Given the description of an element on the screen output the (x, y) to click on. 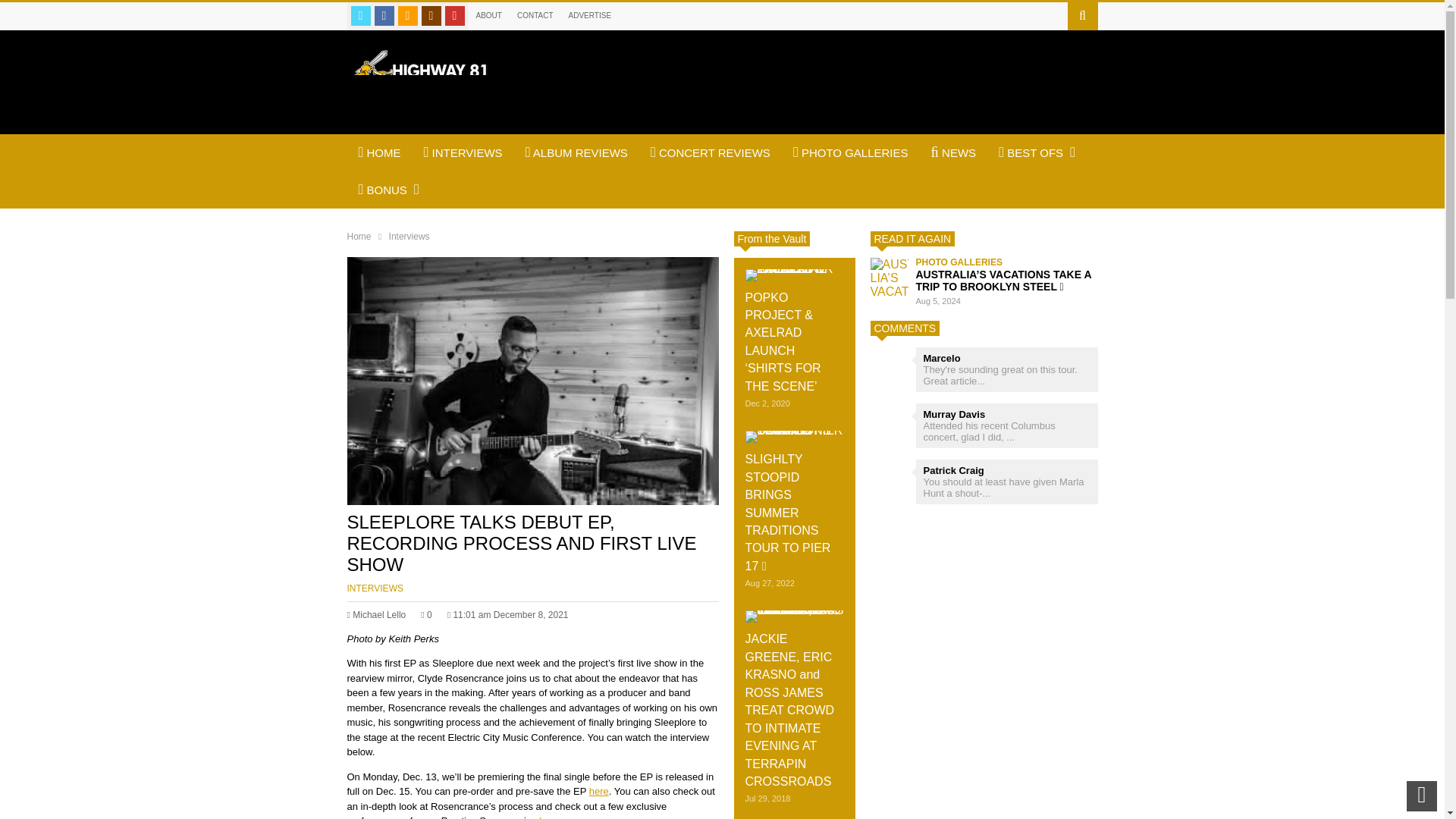
here (598, 790)
BEST OFS (1036, 152)
View all posts in Interviews (375, 588)
HOME (379, 152)
INTERVIEWS (375, 588)
Highway 81 Revisited (421, 105)
Facebook (384, 15)
PHOTO GALLERIES (850, 152)
ADVERTISE (590, 15)
